Given the description of an element on the screen output the (x, y) to click on. 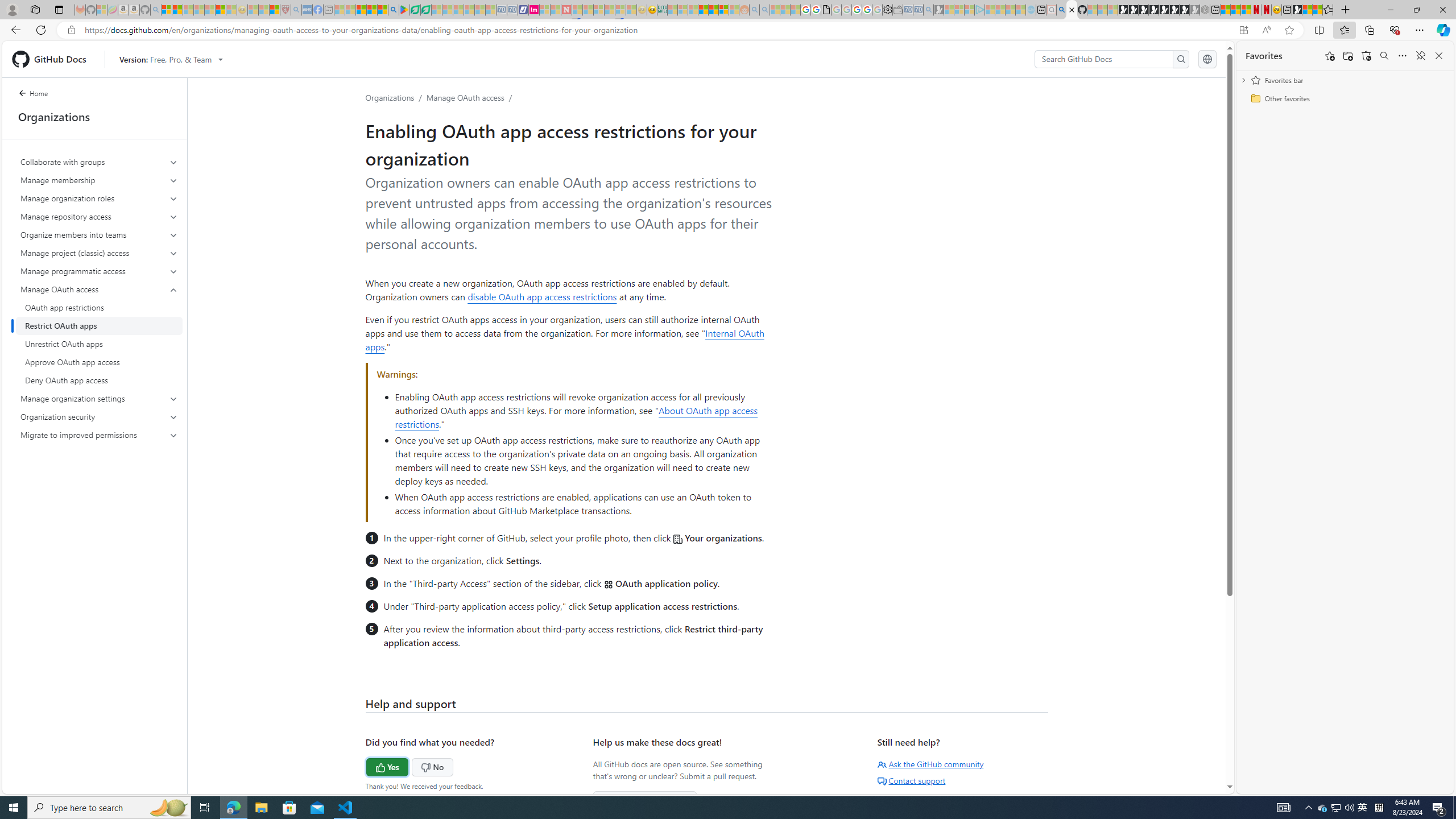
DITOGAMES AG Imprint (662, 9)
New tab (1286, 9)
Copilot (Ctrl+Shift+.) (1442, 29)
Favorites (1327, 9)
Utah sues federal government - Search - Sleeping (764, 9)
Recipes - MSN - Sleeping (253, 9)
Restrict OAuth apps (99, 325)
OAuth app restrictions (99, 307)
The Weather Channel - MSN - Sleeping (187, 9)
Favorites (1263, 55)
